Given the description of an element on the screen output the (x, y) to click on. 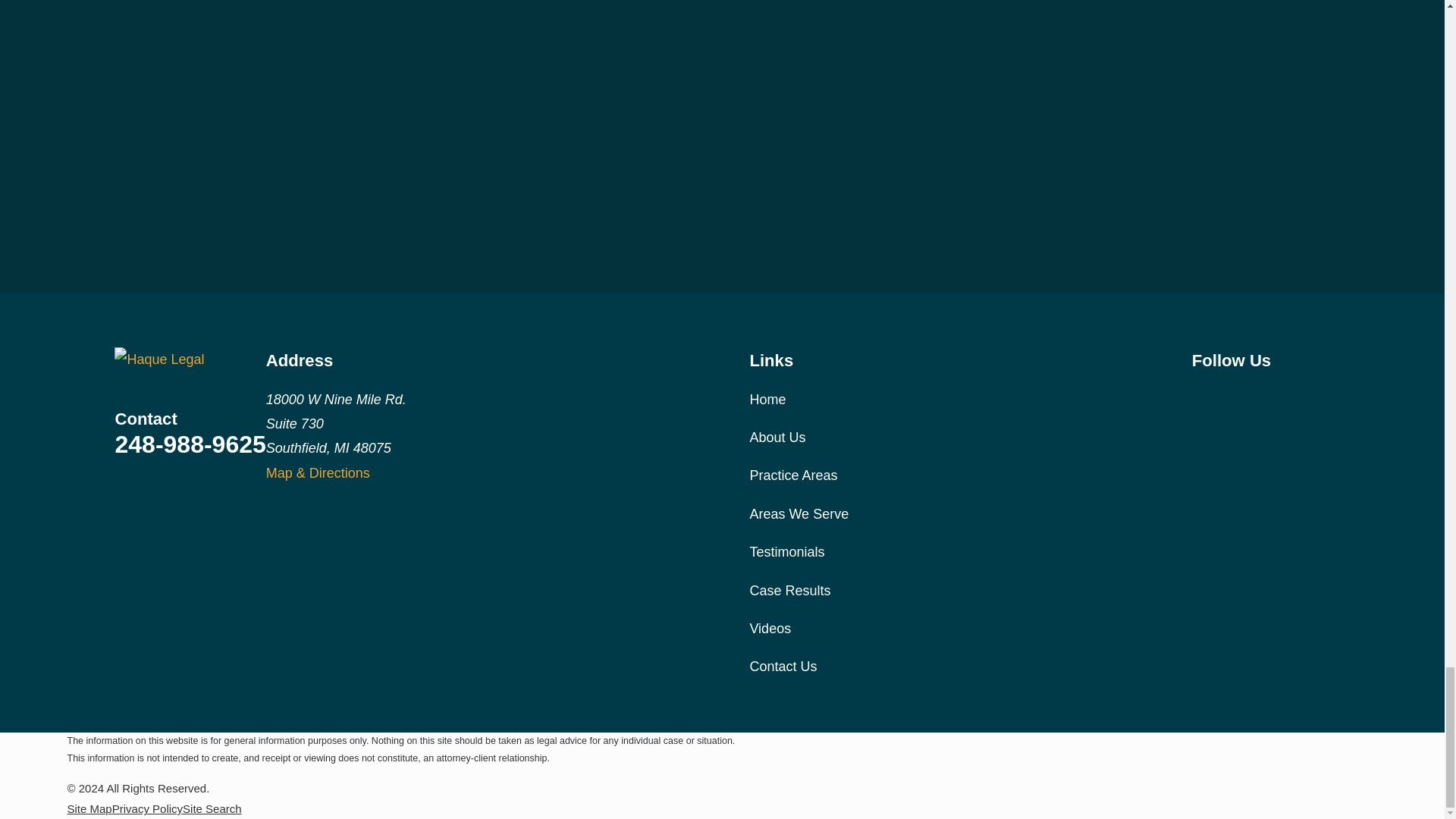
YouTube (1280, 396)
Home (189, 359)
Facebook (1201, 396)
Instagram (1240, 396)
